Given the description of an element on the screen output the (x, y) to click on. 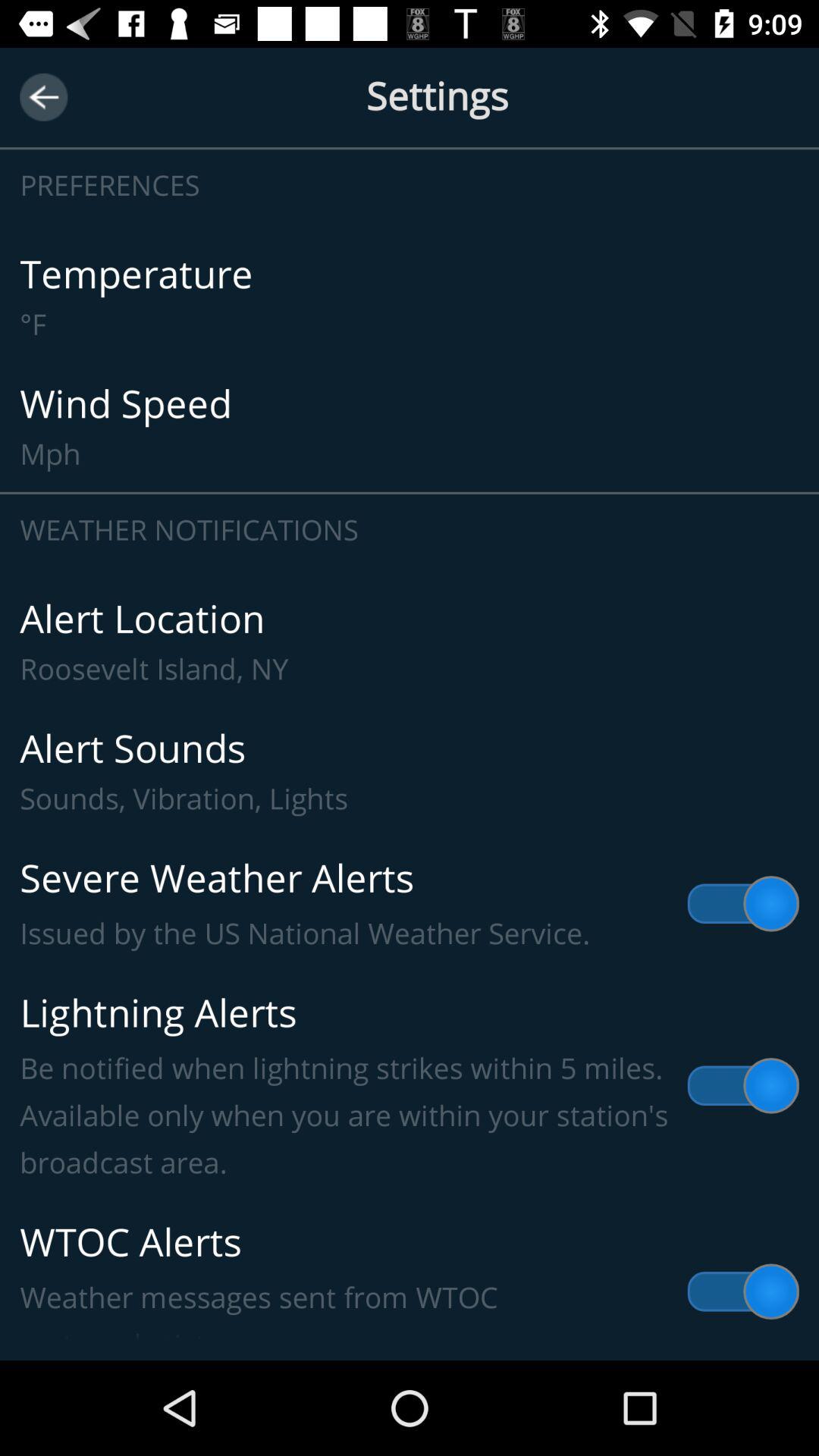
flip to wind speed
mph item (409, 426)
